Given the description of an element on the screen output the (x, y) to click on. 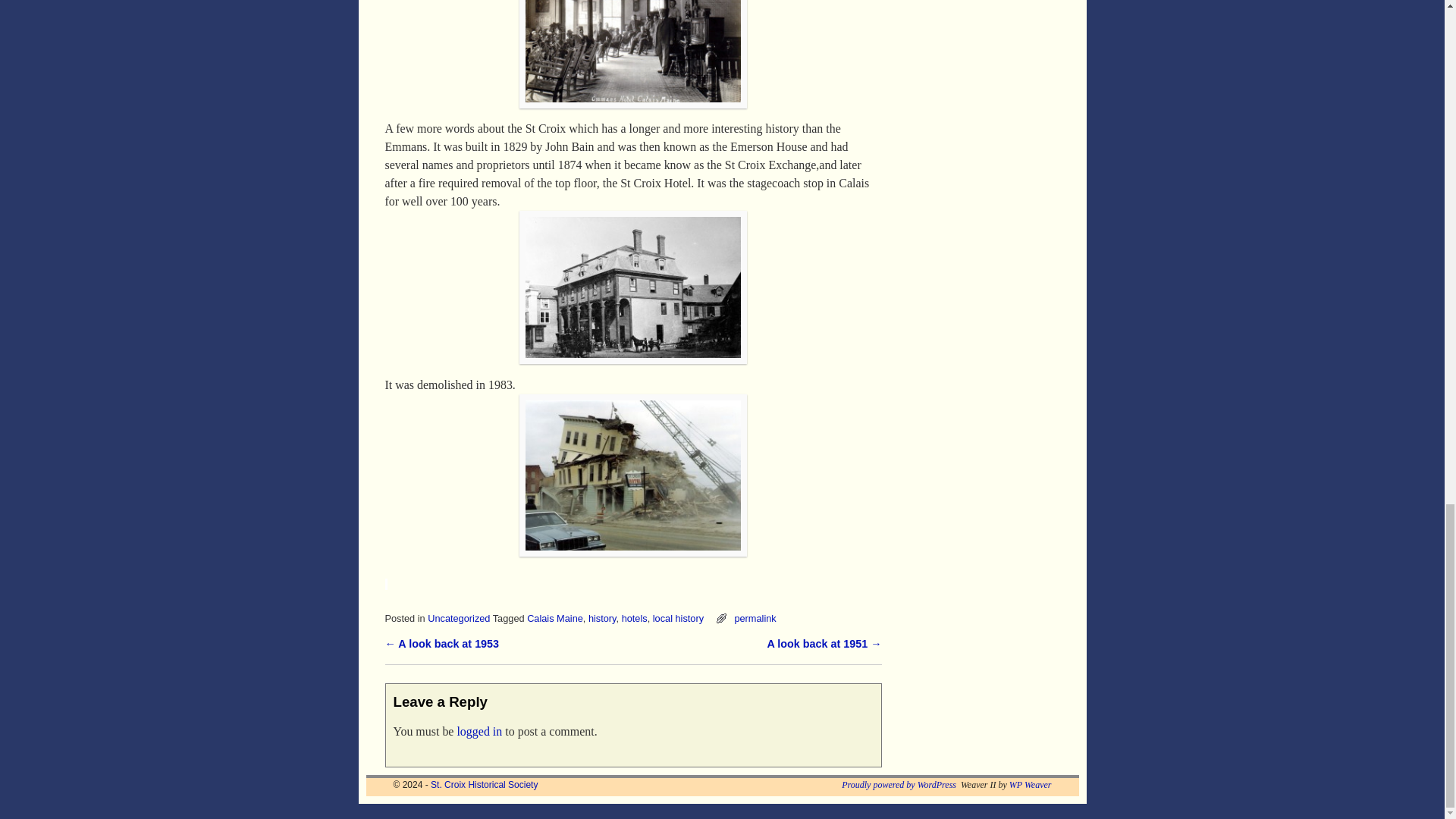
history (601, 618)
hotels (634, 618)
permalink (754, 618)
wordpress.org (898, 784)
logged in (479, 730)
Uncategorized (458, 618)
St. Croix Historical Society (483, 784)
Calais Maine (555, 618)
local history (677, 618)
